Given the description of an element on the screen output the (x, y) to click on. 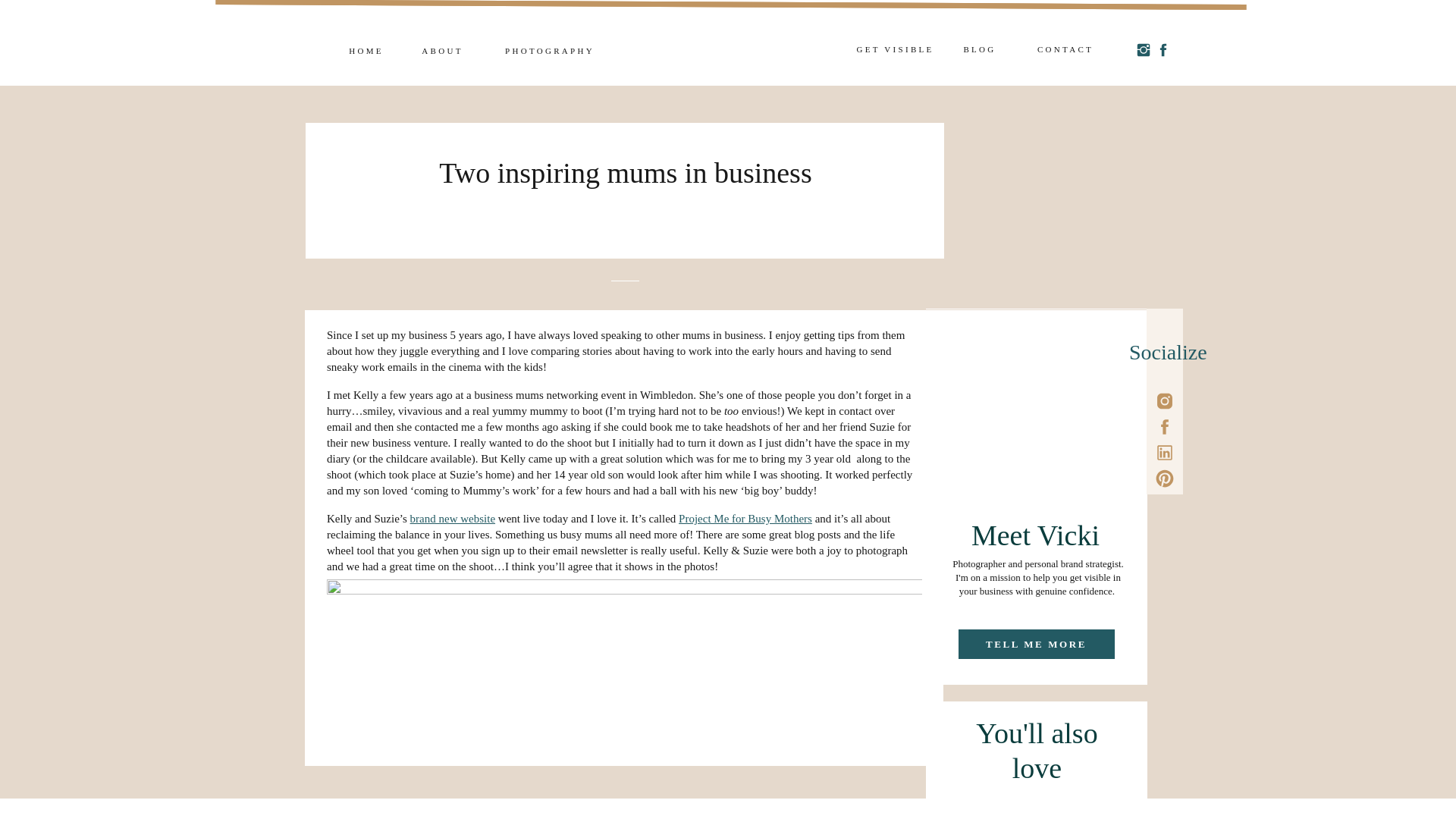
GET VISIBLE (895, 57)
ABOUT (442, 51)
CONTACT (1065, 50)
Project Me for Busy Mothers (745, 518)
Socialize (1164, 349)
HOME (365, 51)
brand new website (452, 518)
BLOG (978, 50)
 PHOTOGRAPHY (547, 51)
TELL ME MORE (1035, 644)
